Given the description of an element on the screen output the (x, y) to click on. 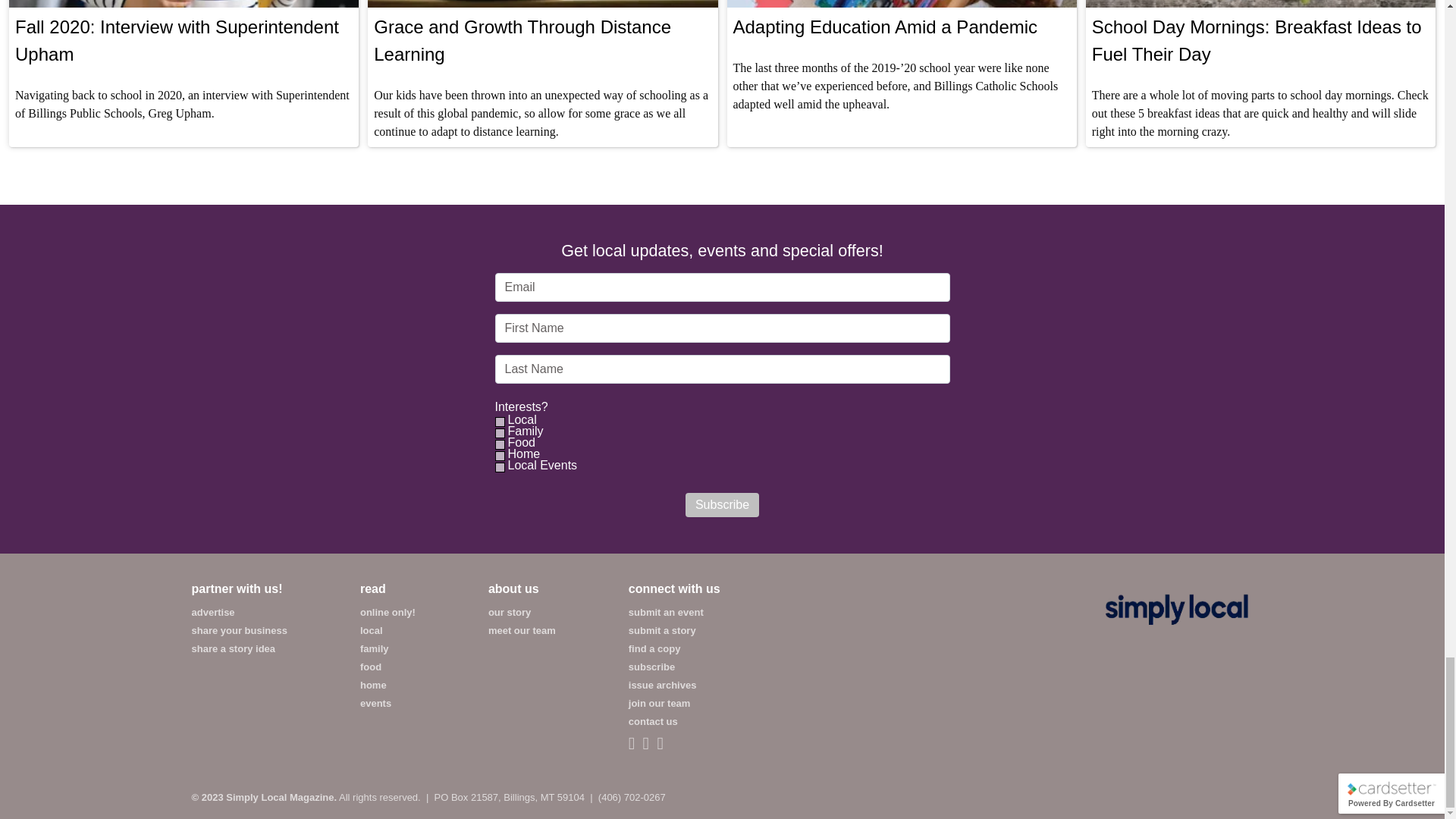
Family (524, 431)
share a story idea (232, 648)
Food (520, 442)
advertise (212, 612)
Home (522, 454)
share your business (238, 630)
Local (521, 419)
Subscribe (721, 504)
Family (499, 433)
Local Events (499, 467)
Local (499, 421)
Food (499, 444)
